Given the description of an element on the screen output the (x, y) to click on. 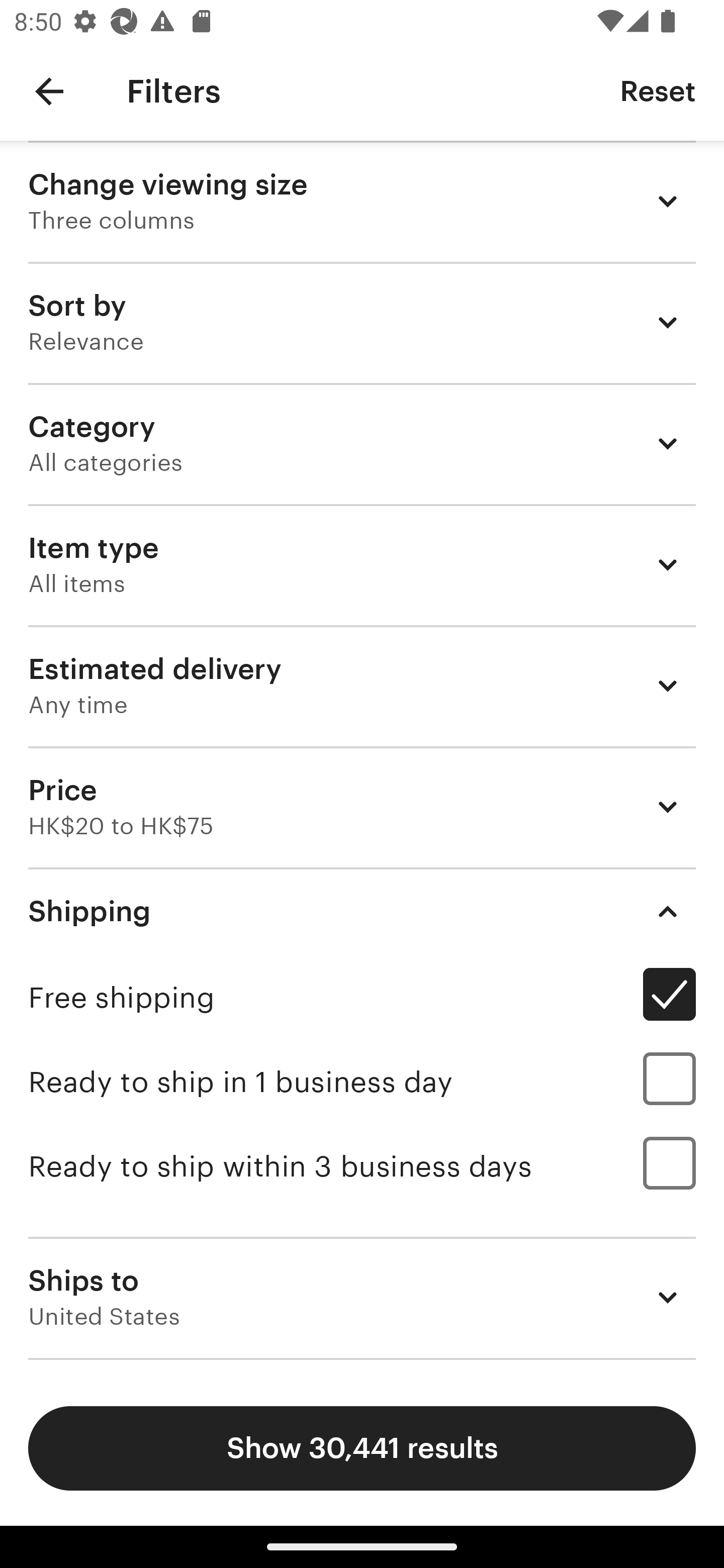
Navigate up (49, 91)
Reset (657, 90)
Change viewing size Three columns (362, 201)
Sort by Relevance (362, 321)
Category All categories (362, 442)
Item type All items (362, 564)
Estimated delivery Any time (362, 685)
Price HK$20 to HK$75 (362, 806)
Shipping (362, 910)
Free shipping (362, 996)
Ready to ship in 1 business day (362, 1081)
Ready to ship within 3 business days (362, 1166)
Ships to United States (362, 1297)
Show 30,441 results Show 363,053 results (361, 1448)
